Given the description of an element on the screen output the (x, y) to click on. 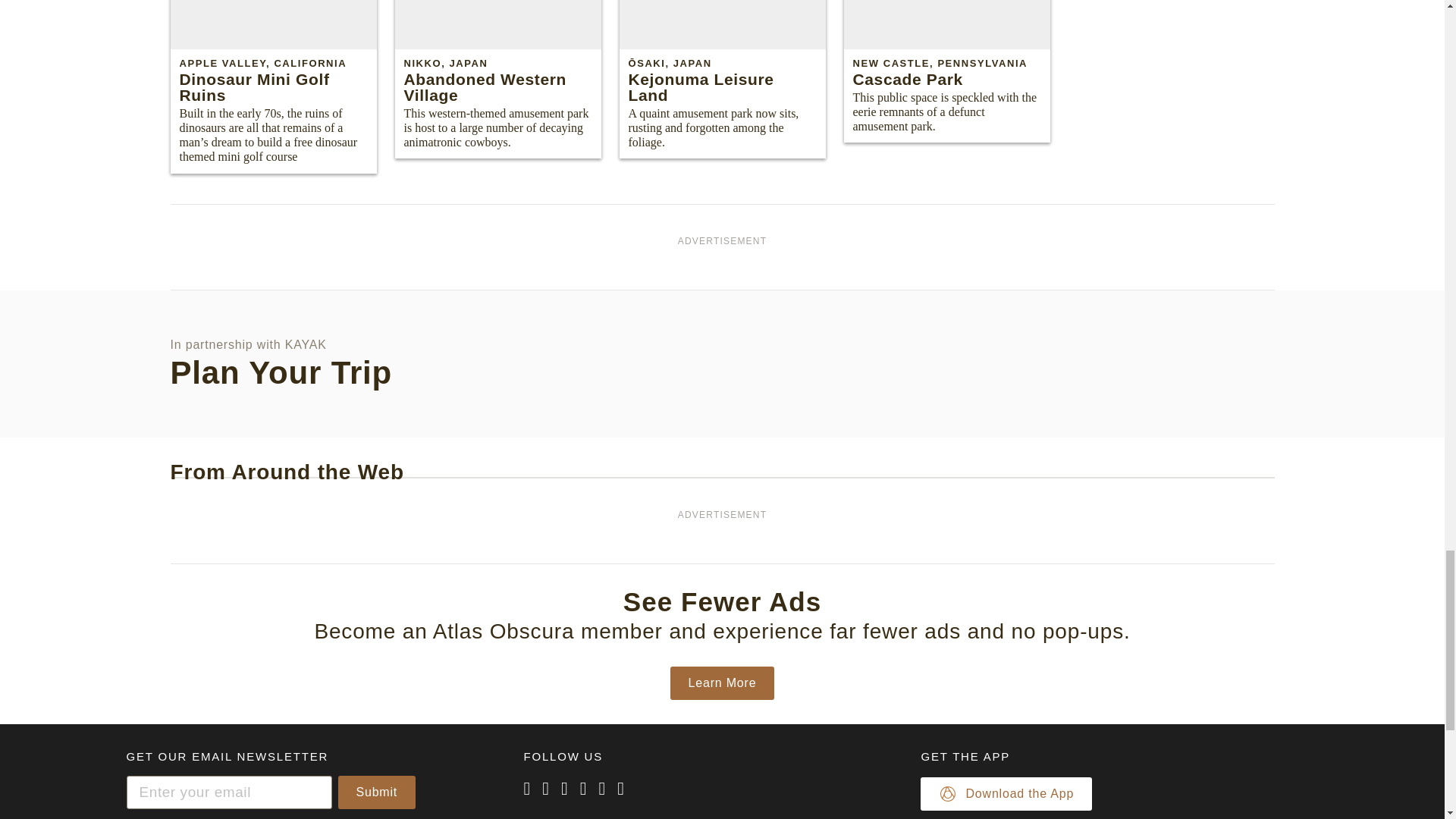
Submit (376, 792)
